Given the description of an element on the screen output the (x, y) to click on. 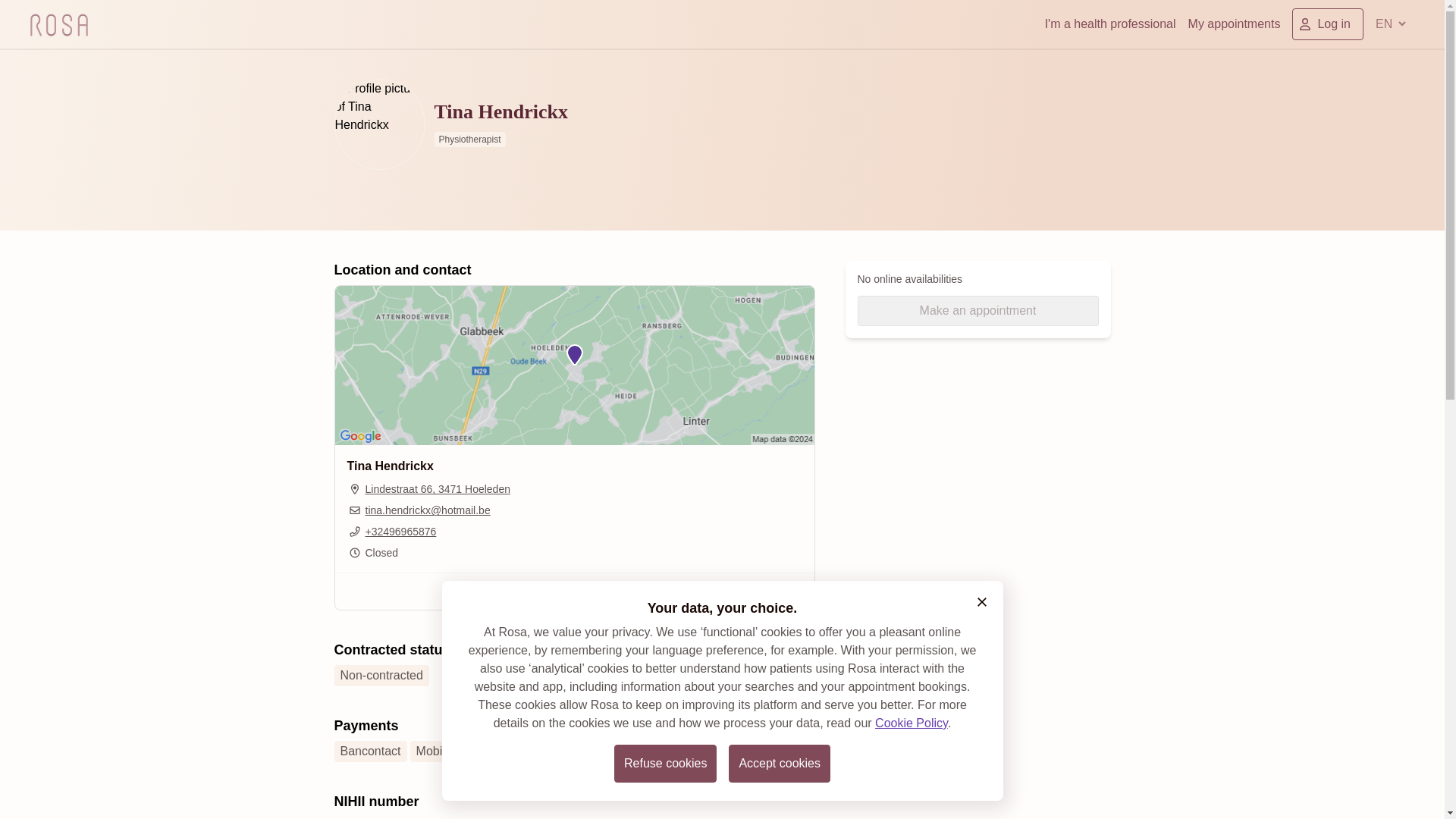
My appointments (1234, 24)
Log in (1327, 24)
More info (573, 591)
Lindestraat 66, 3471 Hoeleden (429, 488)
I'm a health professional (1110, 24)
Make an appointment (977, 310)
